Given the description of an element on the screen output the (x, y) to click on. 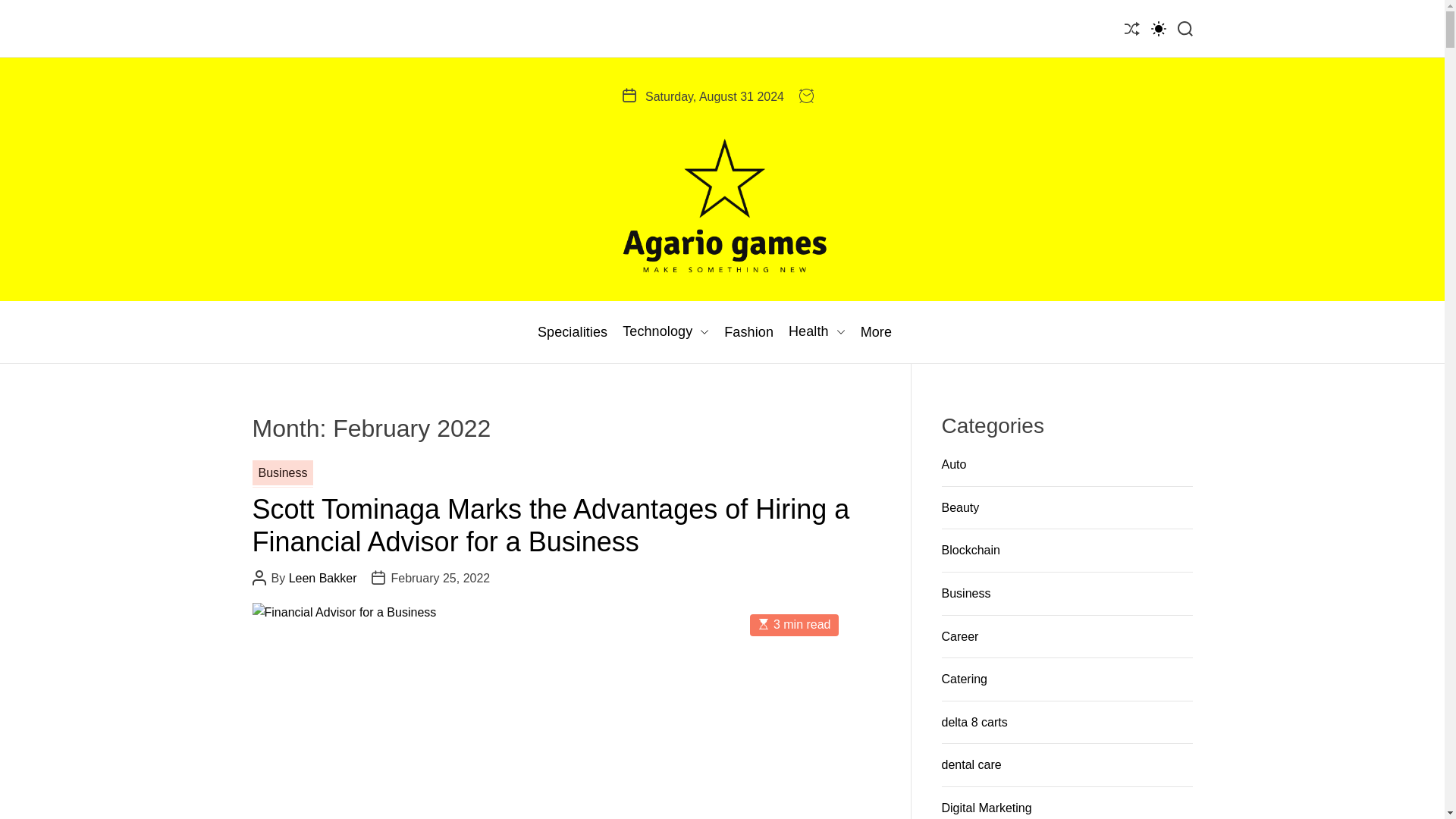
More (875, 332)
Leen Bakker (322, 577)
Specialities (572, 332)
Health (817, 332)
Technology (666, 332)
Business (282, 473)
Fashion (748, 332)
